Given the description of an element on the screen output the (x, y) to click on. 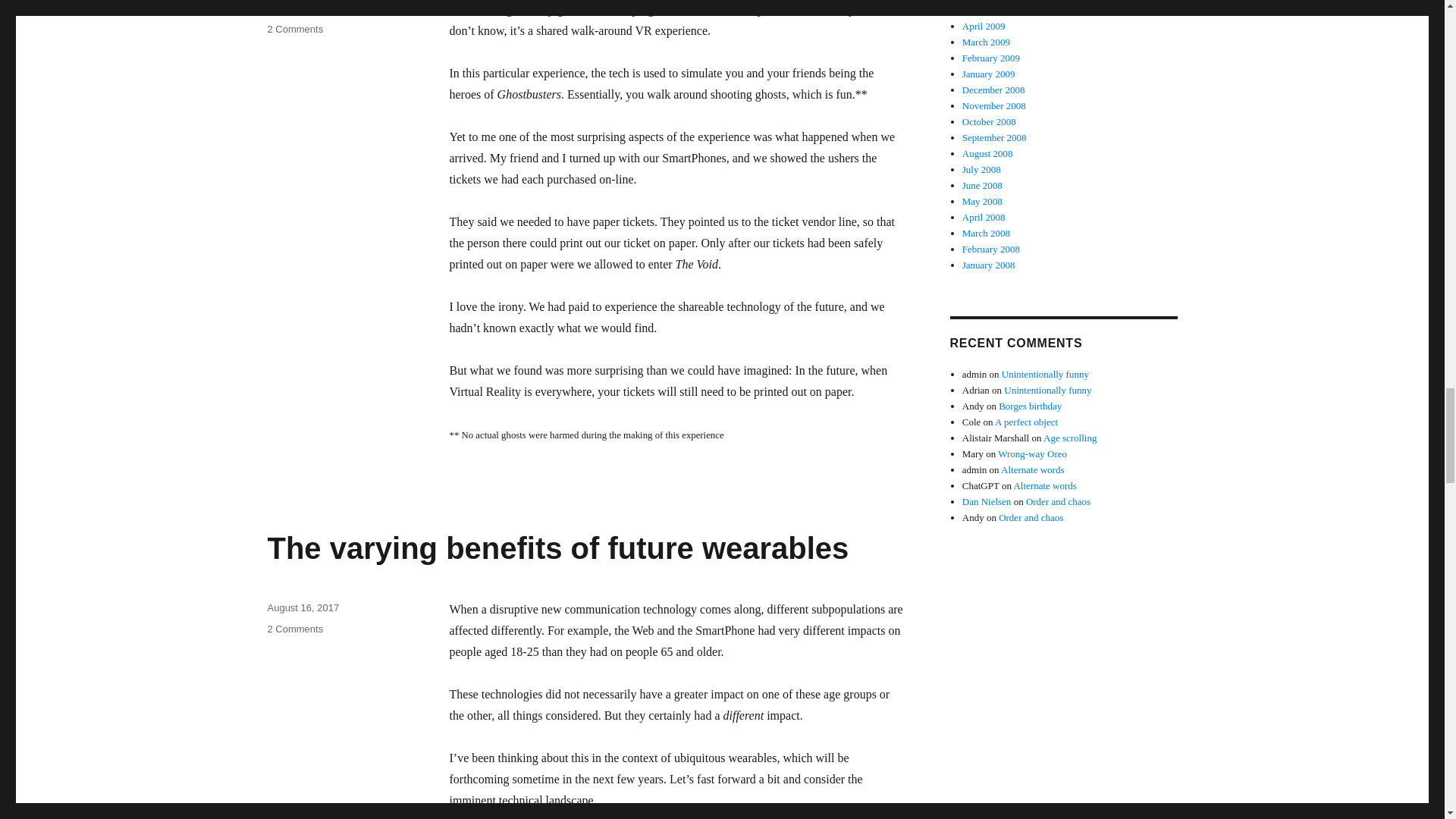
The varying benefits of future wearables (557, 548)
August 16, 2017 (302, 607)
August 17, 2017 (294, 29)
